Given the description of an element on the screen output the (x, y) to click on. 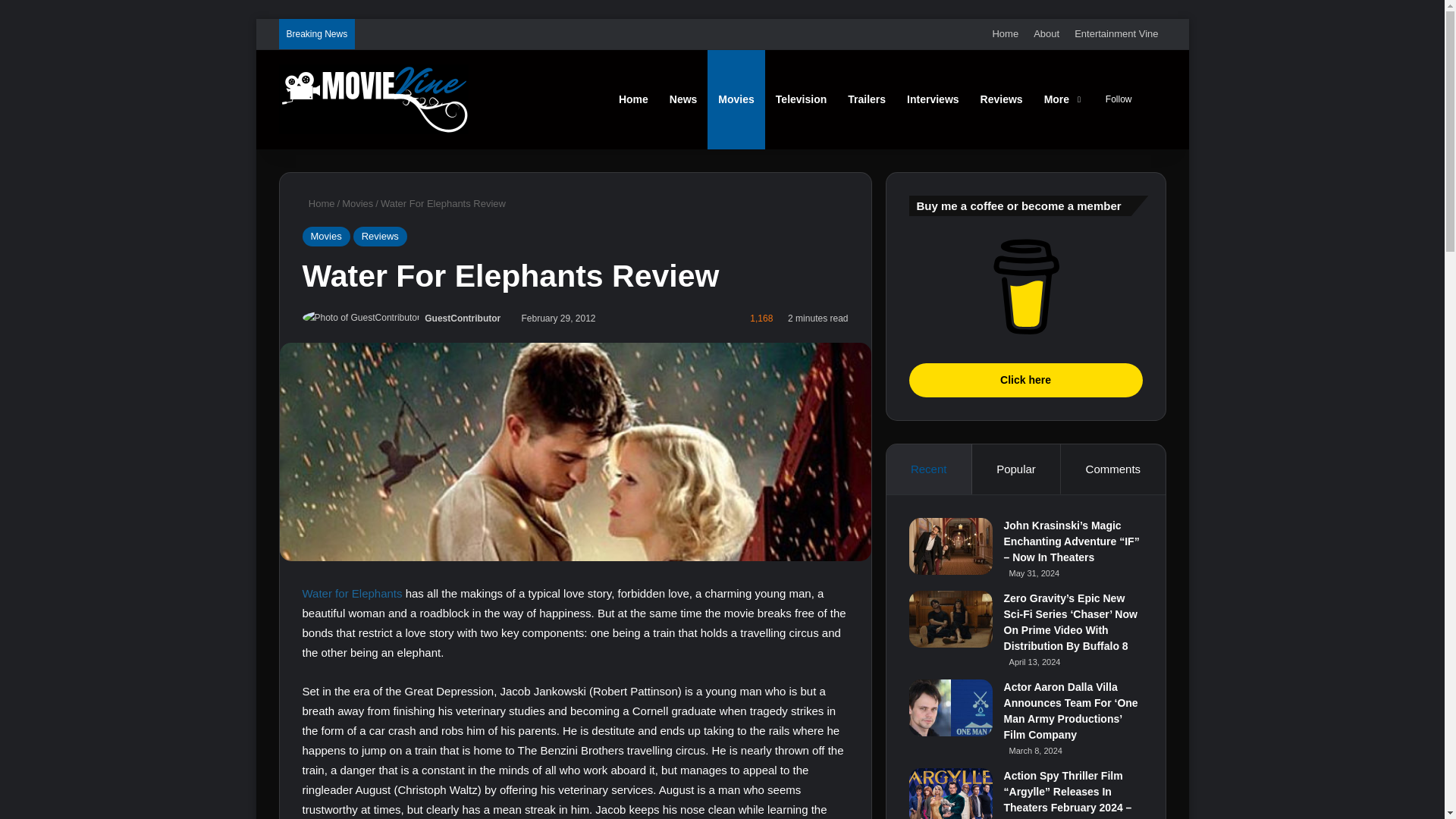
About (1046, 33)
Entertainment Vine (1116, 33)
Movie Vine (373, 99)
GuestContributor (462, 317)
Click here (1025, 287)
Home (1005, 33)
